Given the description of an element on the screen output the (x, y) to click on. 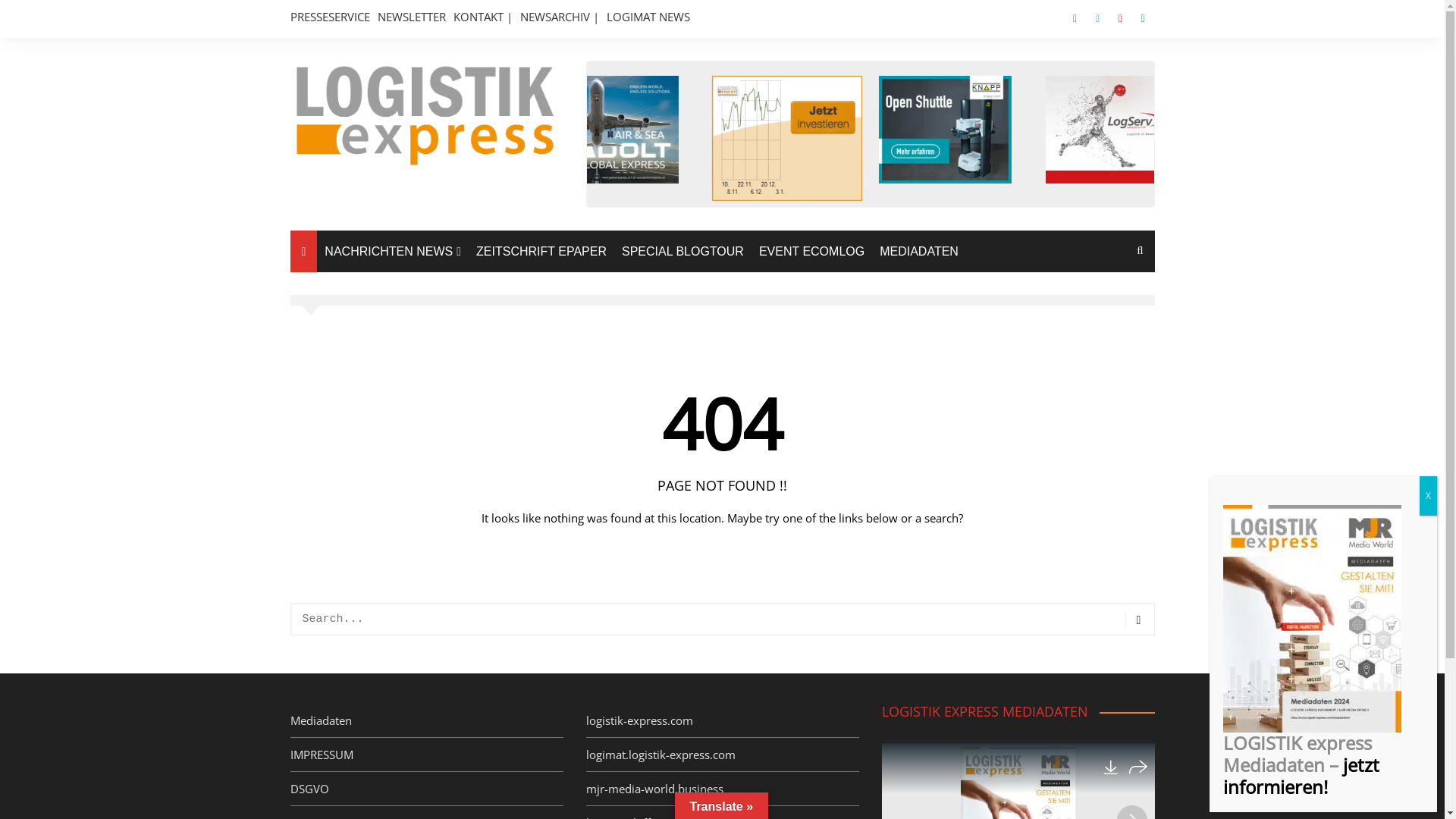
JOB KARRIERE Element type: text (399, 445)
ZEITSCHRIFT NACHLESE Element type: text (399, 549)
PRESSESERVICE Element type: text (329, 16)
JOBSERVICE Element type: text (399, 477)
X Element type: text (1428, 495)
NEWSLETTER Element type: text (411, 16)
Facebook Element type: text (1074, 18)
LOGISTICS NEWS [UK] Element type: text (399, 382)
jetzt informieren! Element type: text (1301, 774)
FIRMENSERVICE Element type: text (399, 508)
NACHRICHTEN NEWS Element type: text (392, 251)
SPECIAL BLOGTOUR Element type: text (682, 251)
YouTube Element type: text (1119, 18)
POLITIK WIRTSCHAFT Element type: text (399, 414)
EVENT ECOMLOG Element type: text (811, 251)
Twitter Element type: text (1096, 18)
logimat.logistik-express.com Element type: text (659, 754)
MEDIADATEN Element type: text (919, 251)
logistik-express.com Element type: text (638, 720)
ZEITSCHRIFT EPAPER Element type: text (541, 251)
mjr-media-world.business Element type: text (653, 788)
NEWSARCHIV | Element type: text (559, 16)
KONTAKT | Element type: text (482, 16)
LOGIMAT NEWS Element type: text (648, 16)
KNOWLEDGE Element type: text (399, 319)
LinkedIn Element type: text (1142, 18)
DSGVO Element type: text (308, 788)
IMPRESSUM Element type: text (320, 754)
LOGISTIKTHEMEN Element type: text (399, 288)
Mediadaten Element type: text (320, 720)
EXKLUSIVE NEWS Element type: text (399, 351)
